Given the description of an element on the screen output the (x, y) to click on. 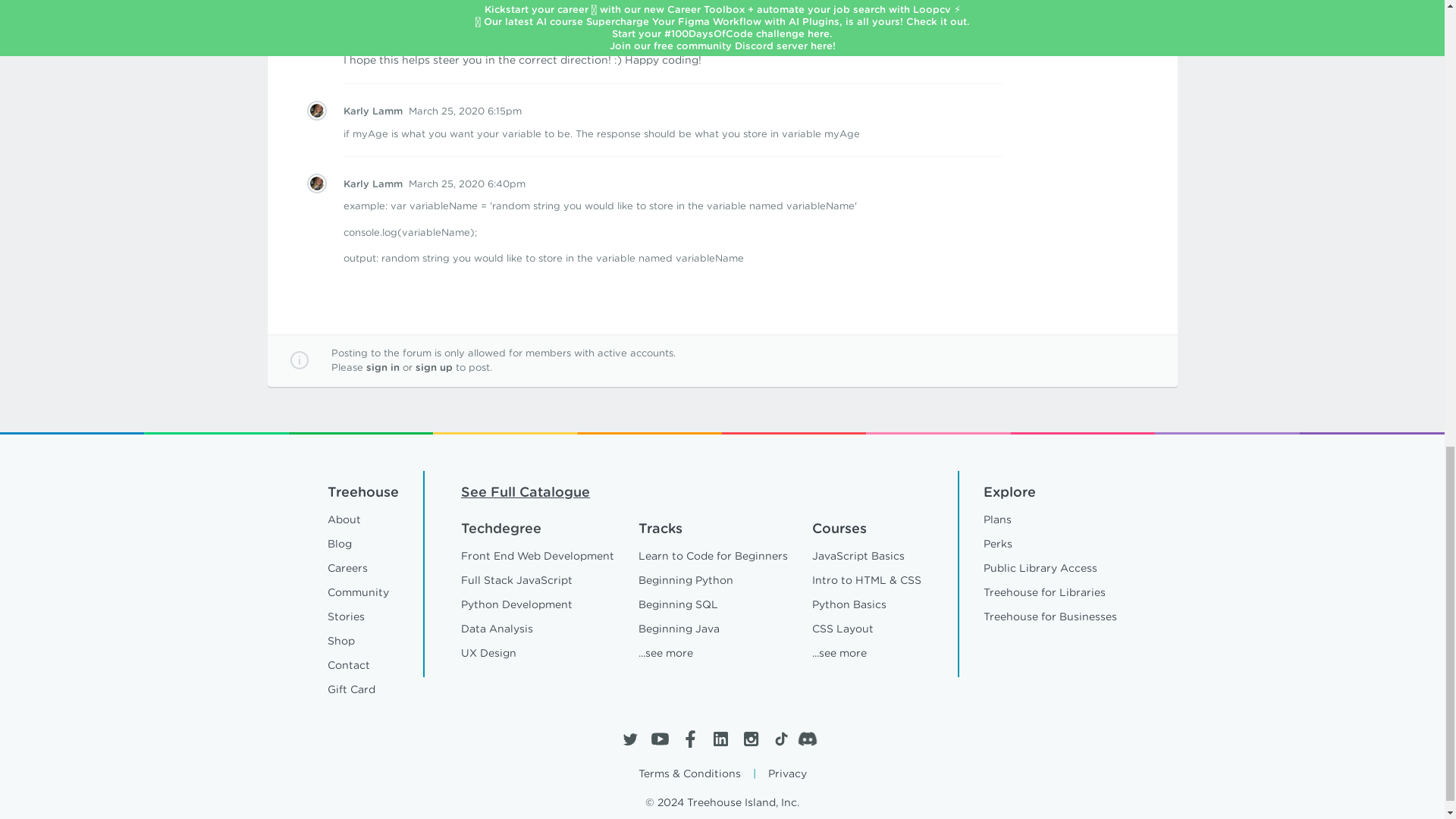
TikTok (780, 738)
LinkedIn (719, 738)
YouTube (659, 738)
YouTube (659, 738)
Facebook (690, 738)
Instagram (749, 738)
LinkedIn (719, 738)
Facebook (690, 738)
Instagram (749, 738)
Twitter (628, 738)
